Given the description of an element on the screen output the (x, y) to click on. 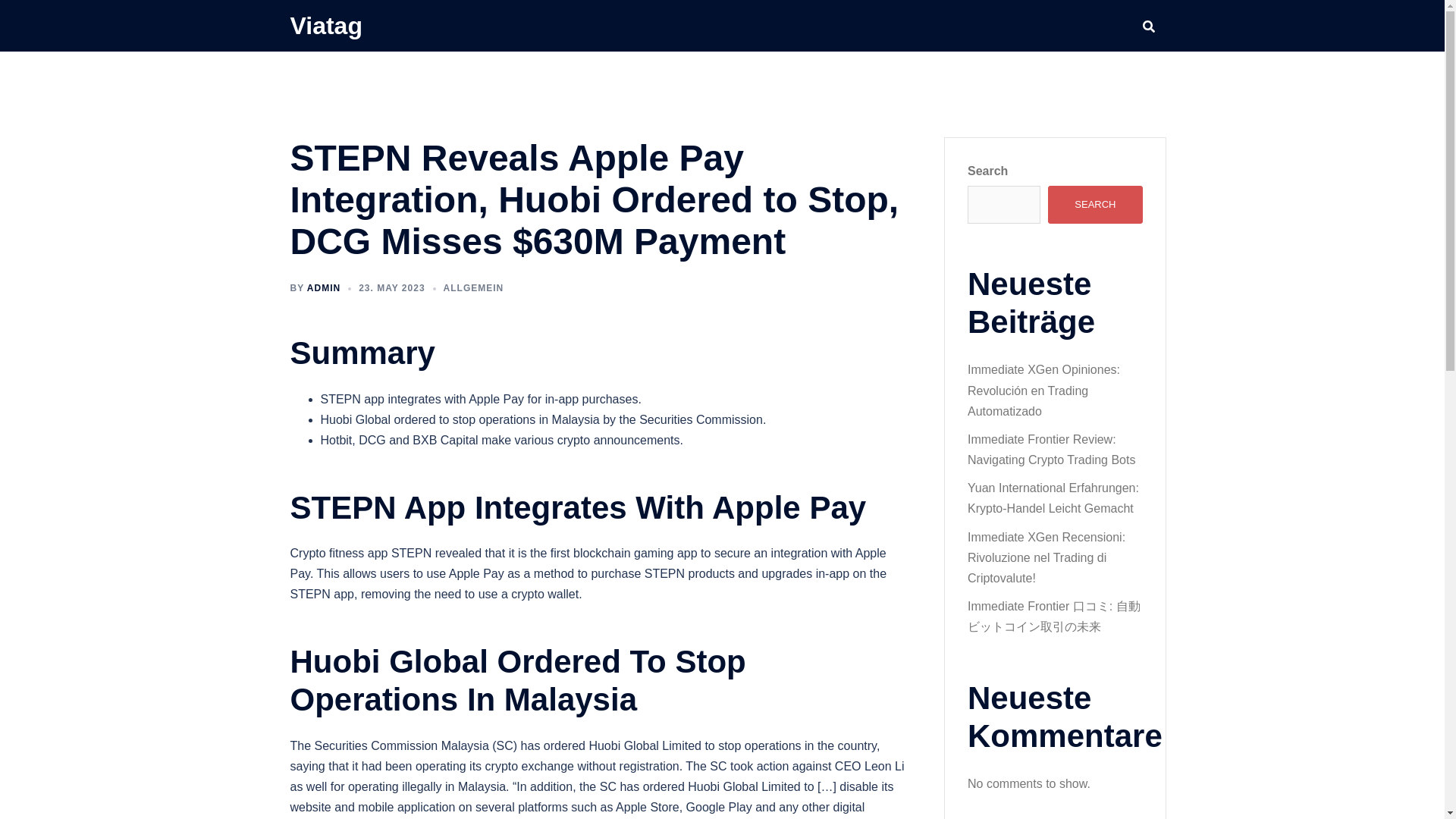
Immediate Frontier Review: Navigating Crypto Trading Bots (1051, 449)
Yuan International Erfahrungen: Krypto-Handel Leicht Gemacht (1053, 498)
Viatag (325, 25)
SEARCH (1094, 204)
ALLGEMEIN (473, 287)
23. MAY 2023 (391, 287)
ADMIN (323, 287)
